Given the description of an element on the screen output the (x, y) to click on. 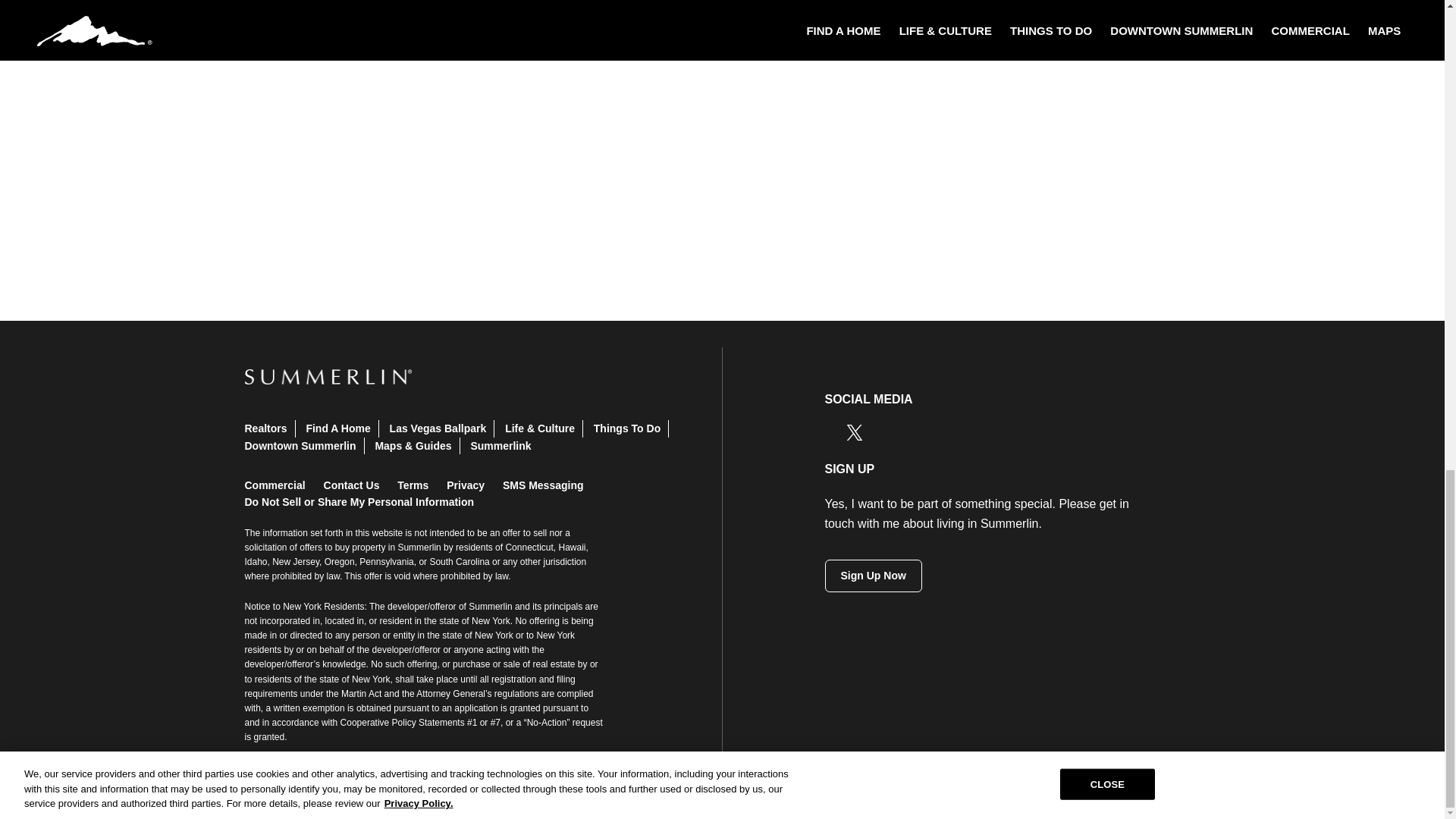
twitter (854, 432)
